Given the description of an element on the screen output the (x, y) to click on. 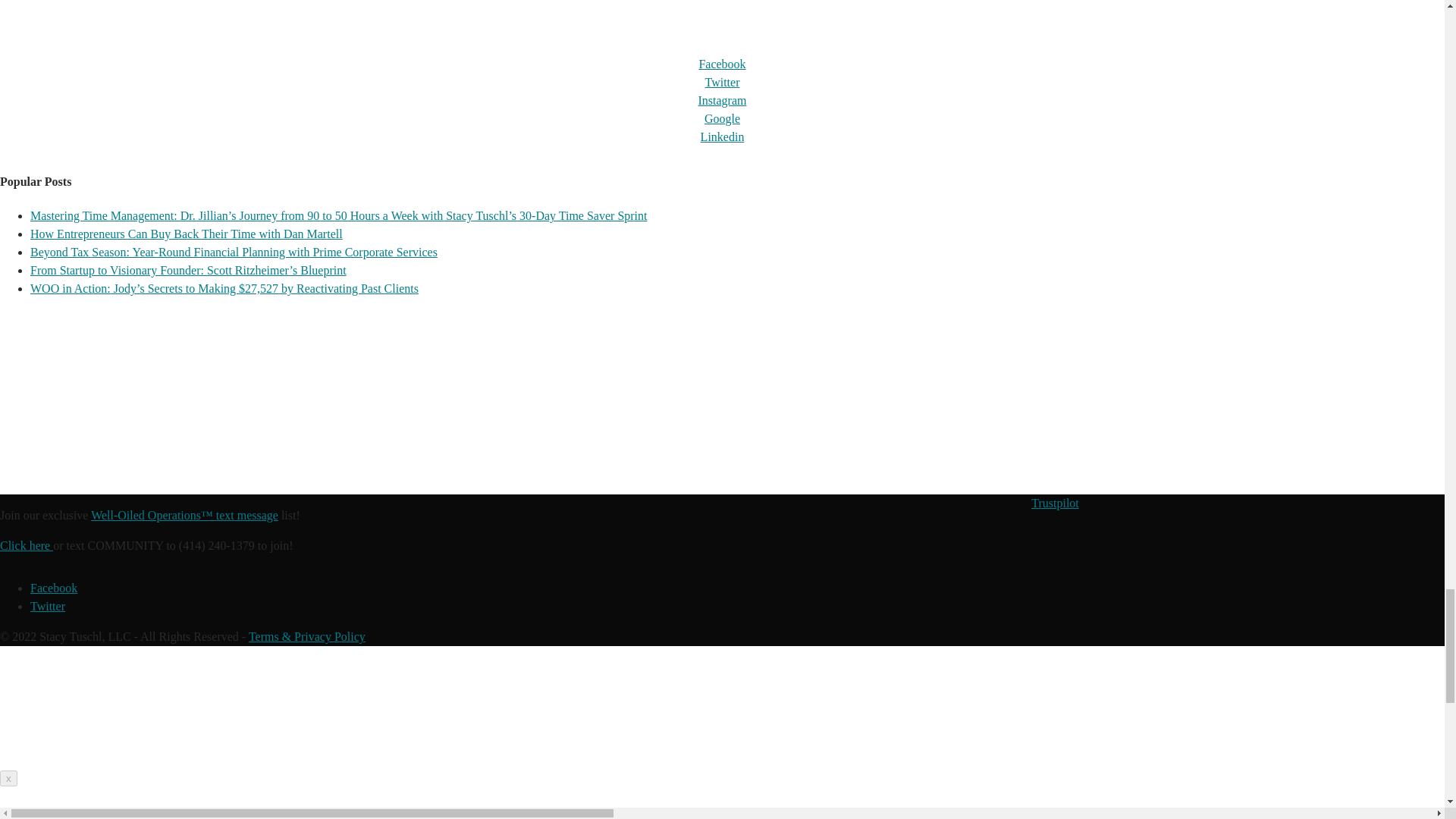
How Entrepreneurs Can Buy Back Their Time with Dan Martell (186, 233)
Trustpilot (1054, 502)
Linkedin (722, 136)
Instagram (721, 100)
Twitter (721, 82)
Facebook (721, 63)
Google (721, 118)
Click here (26, 545)
